Given the description of an element on the screen output the (x, y) to click on. 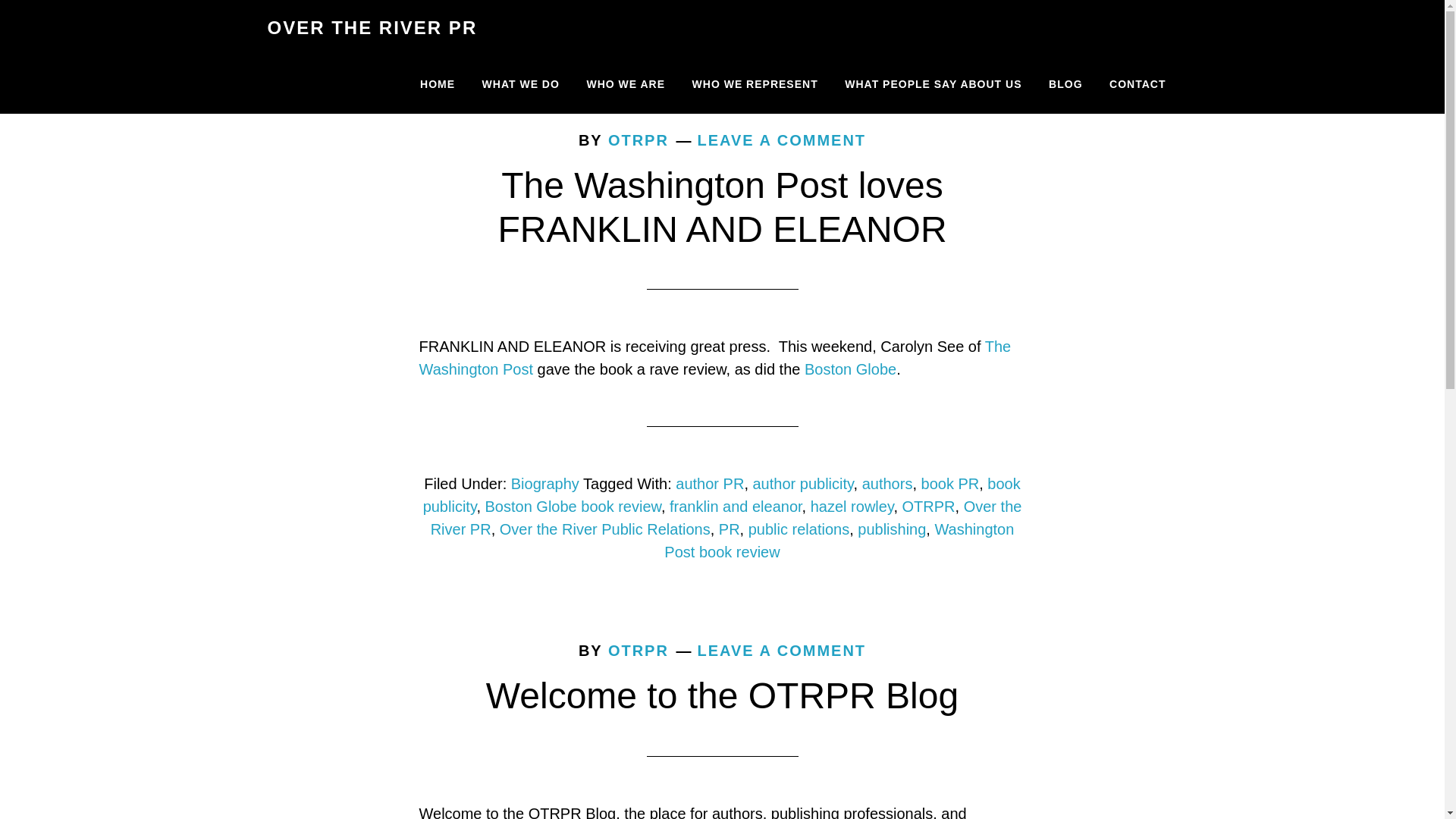
authors (886, 483)
WHAT WE DO (520, 84)
OTRPR (638, 650)
The Washington Post loves FRANKLIN AND ELEANOR (721, 207)
Over the River Public Relations (604, 528)
CONTACT (1136, 84)
Boston Globe book review (572, 506)
WHAT PEOPLE SAY ABOUT US (932, 84)
OTRPR (928, 506)
The Washington Post (714, 357)
public relations (798, 528)
book publicity (721, 495)
Washington Post book review (838, 540)
franklin and eleanor (735, 506)
BLOG (1064, 84)
